Given the description of an element on the screen output the (x, y) to click on. 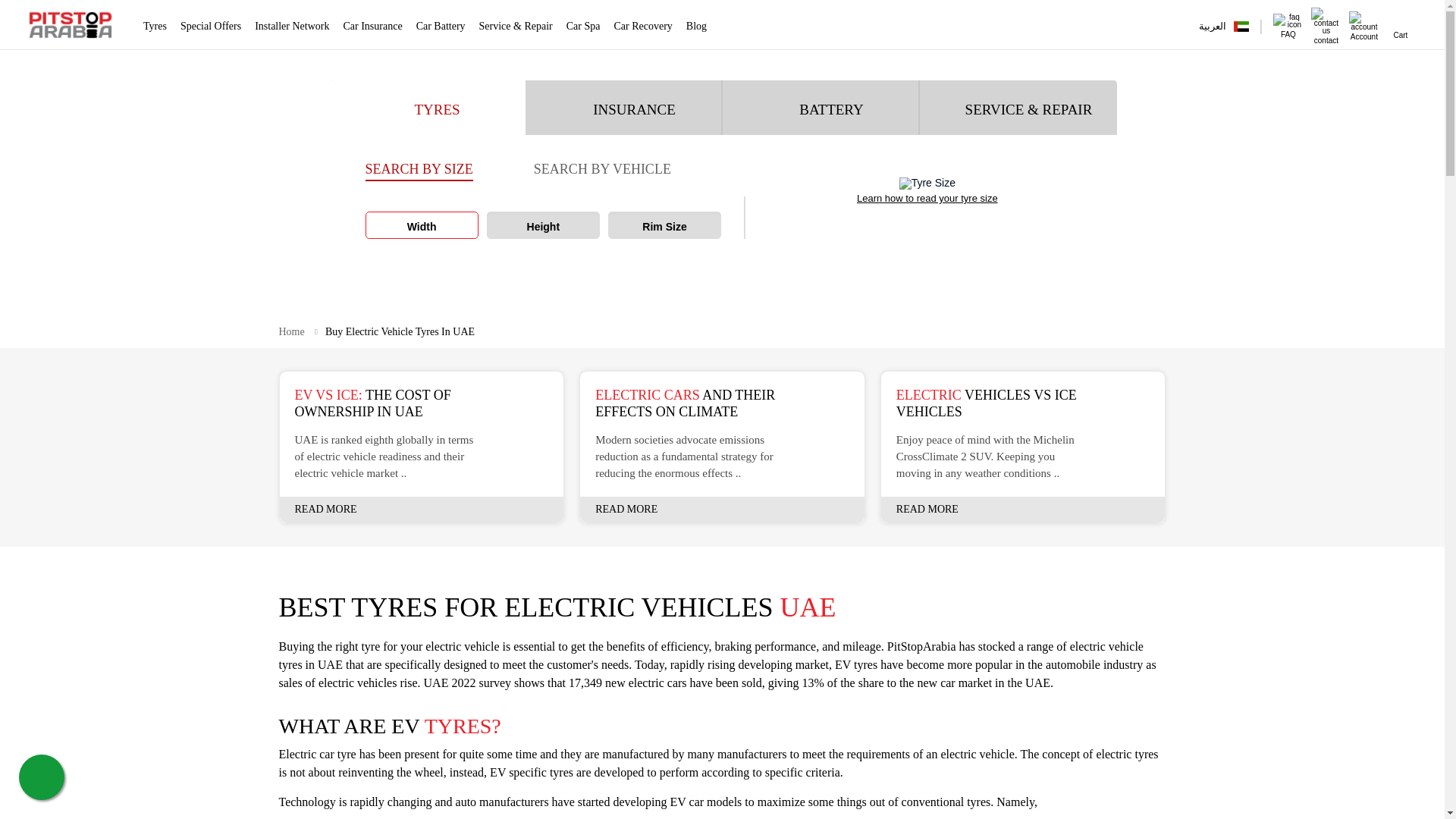
Car Spa (582, 25)
Car Recovery (643, 25)
Blog (695, 25)
Installer Network (291, 25)
FAQ (1287, 29)
Click for Tyres... (70, 24)
Special Offers (210, 25)
Car Insurance (373, 25)
Tyres (154, 25)
Account (1363, 31)
Car Battery (440, 25)
contact (1325, 35)
Click for Tyres... (74, 24)
Go to Home Page (293, 331)
